Given the description of an element on the screen output the (x, y) to click on. 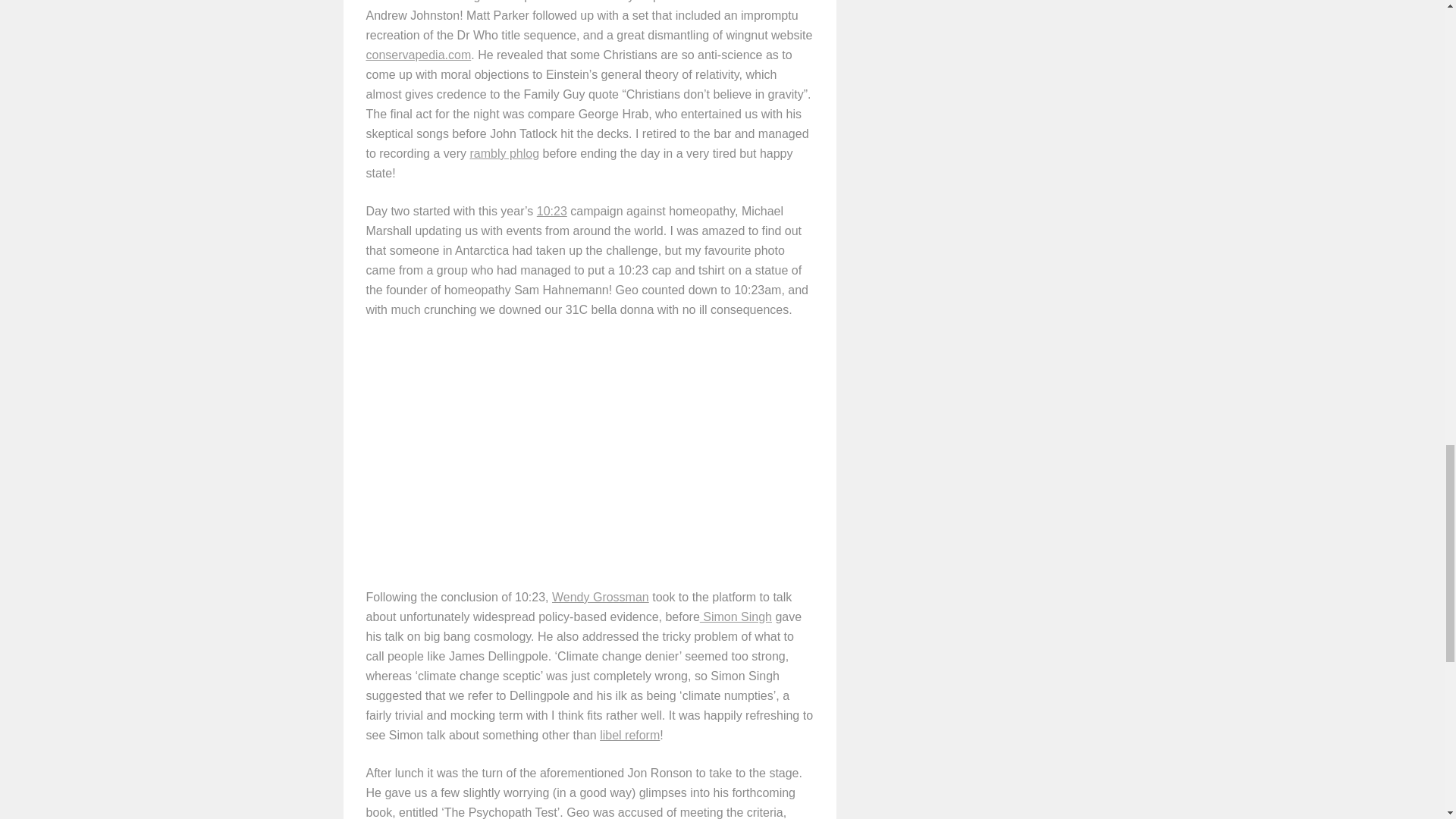
Simon Singh (735, 616)
Wendy Grossman (600, 596)
rambly phlog (503, 153)
libel reform (629, 735)
10:23 (552, 210)
conservapedia.com (417, 54)
